Given the description of an element on the screen output the (x, y) to click on. 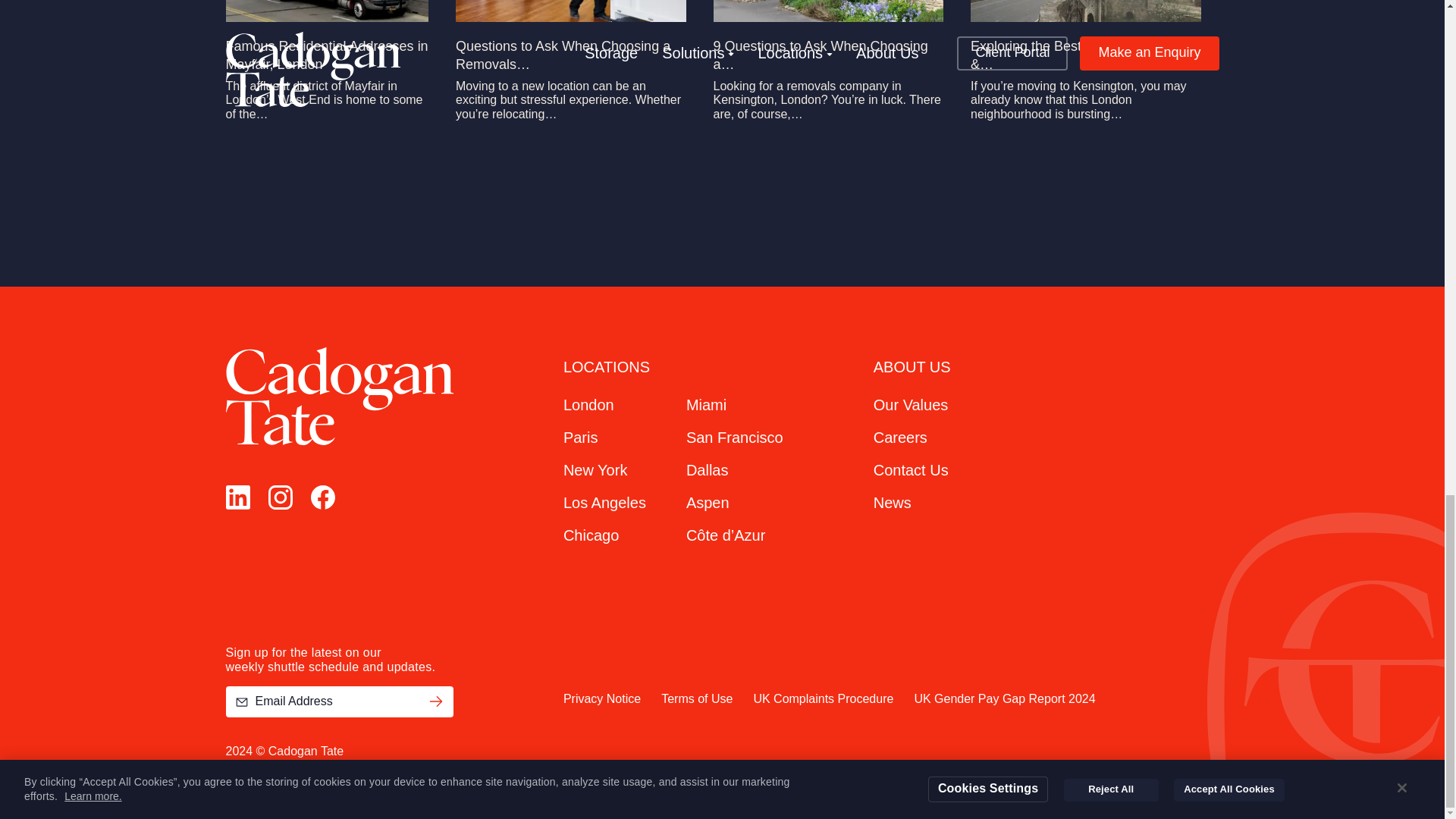
Los Angeles (604, 502)
Chicago (590, 535)
LOCATIONS (606, 366)
Dallas (707, 469)
Paris (580, 437)
New York (595, 469)
Miami (705, 404)
London (588, 404)
San Francisco (734, 437)
